Given the description of an element on the screen output the (x, y) to click on. 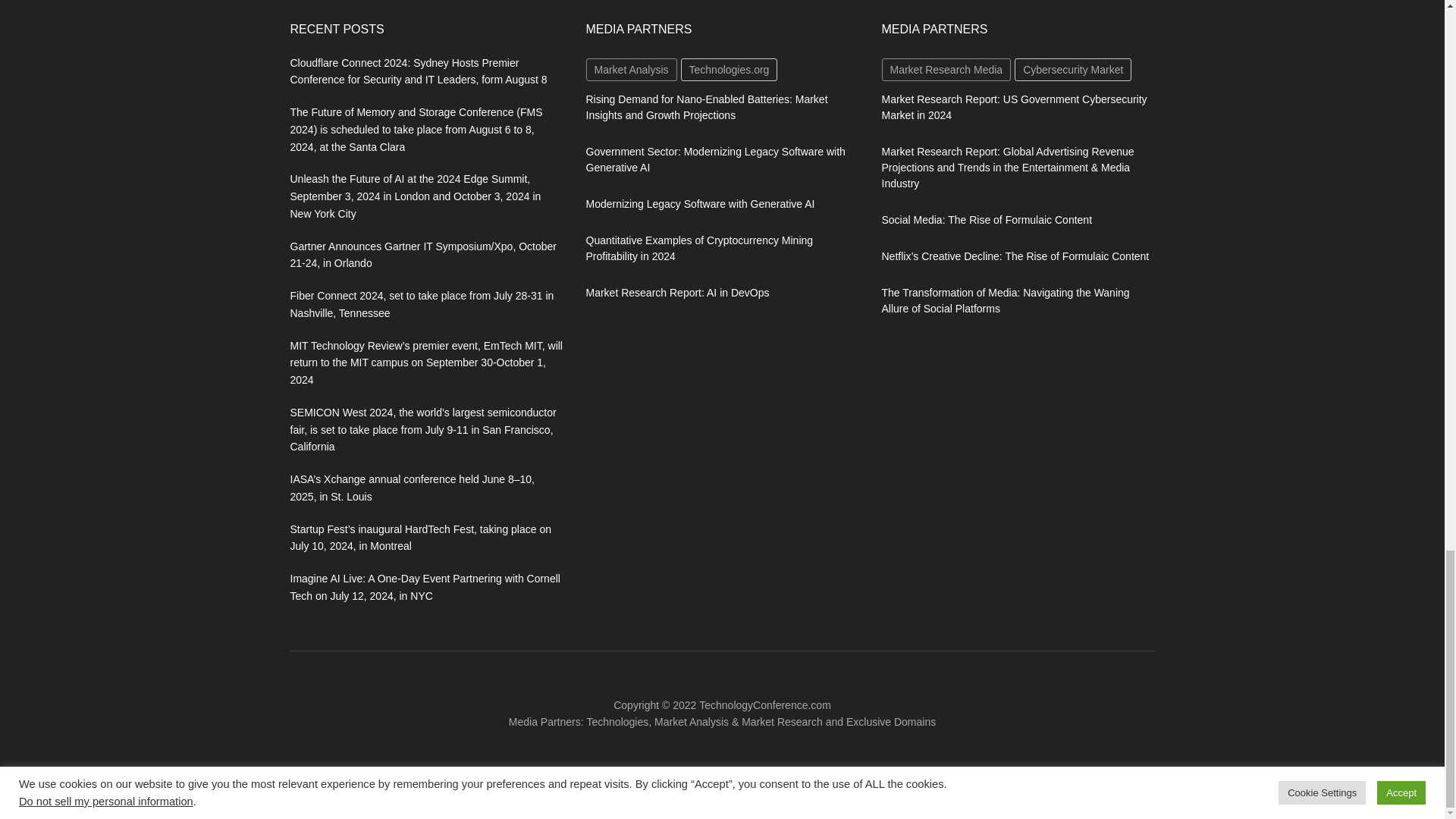
Modernizing Legacy Software with Generative AI (699, 203)
Market Research Report: AI in DevOps (676, 292)
